Given the description of an element on the screen output the (x, y) to click on. 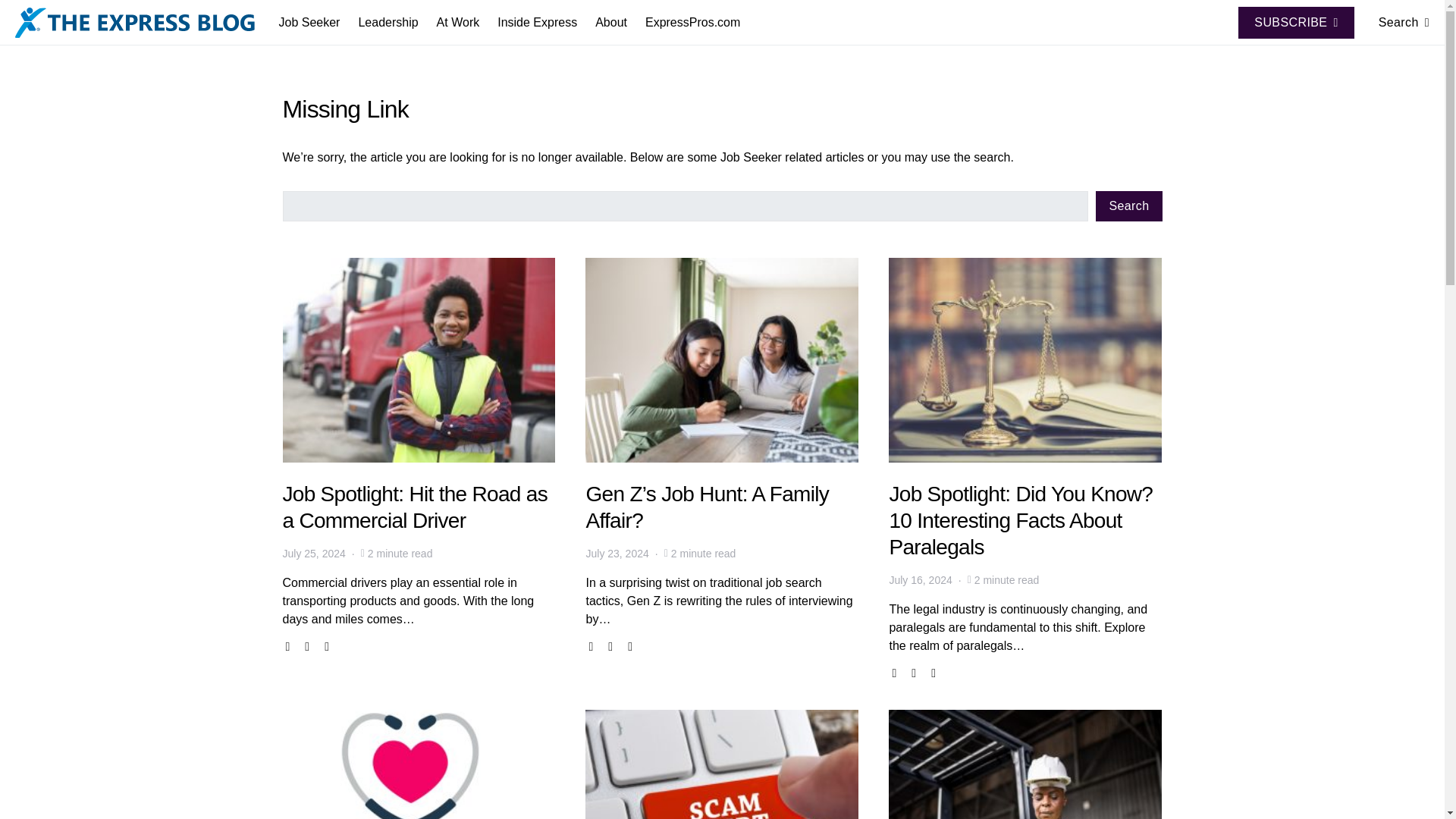
SUBSCRIBE (1296, 21)
Leadership (387, 22)
Job Spotlight: Hit the Road as a Commercial Driver (414, 507)
Search (1398, 22)
About (611, 22)
At Work (458, 22)
Job Seeker (314, 22)
ExpressPros.com (687, 22)
Inside Express (536, 22)
Search (1128, 205)
